Given the description of an element on the screen output the (x, y) to click on. 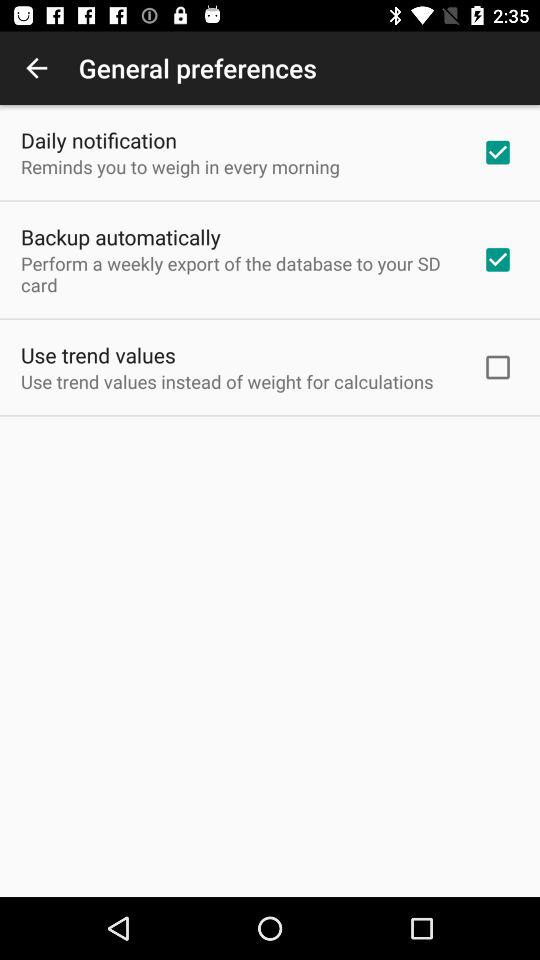
press the icon above the daily notification app (36, 68)
